Given the description of an element on the screen output the (x, y) to click on. 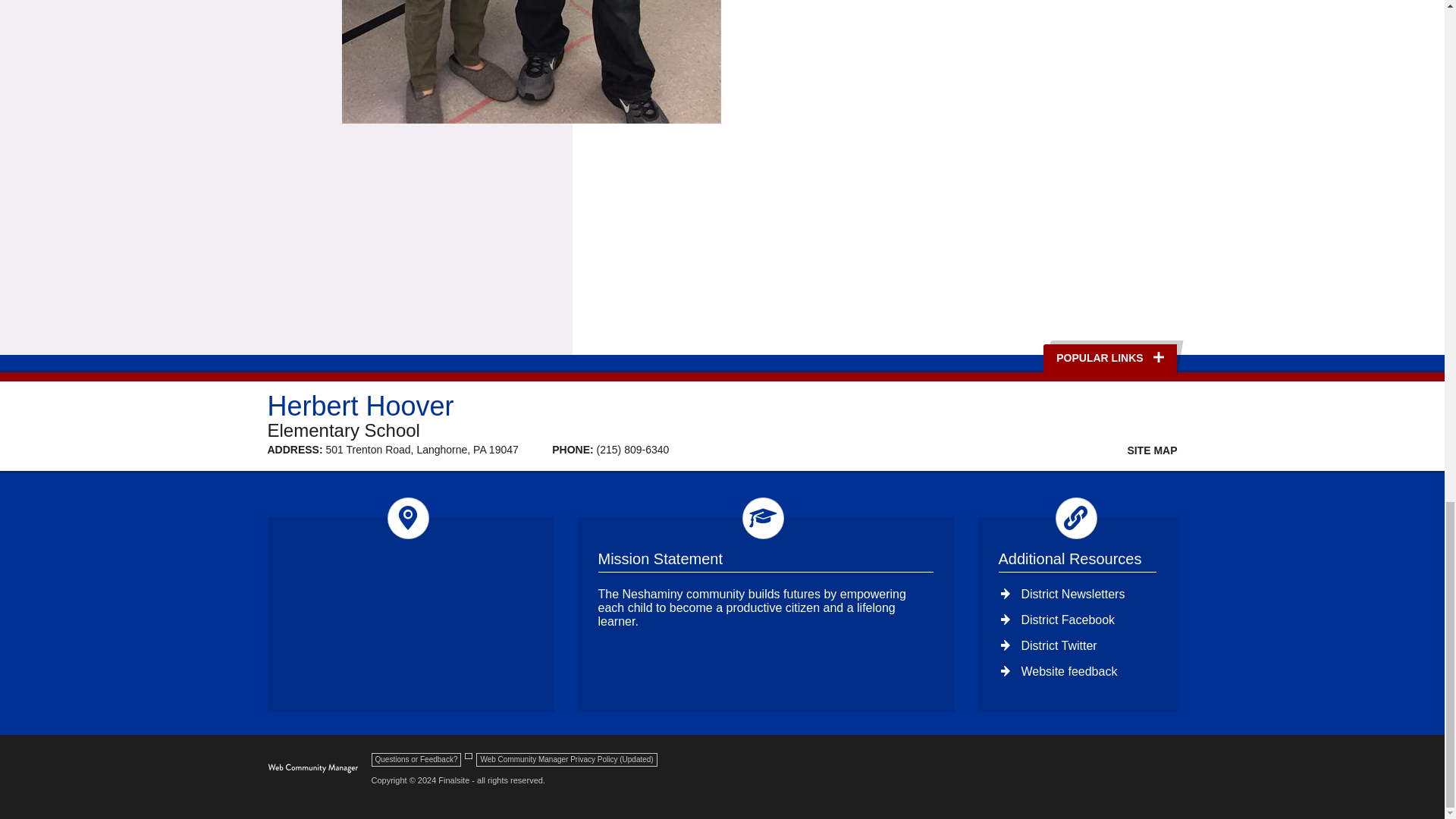
Hoover Hawks (531, 61)
Finalsite - all rights reserved (312, 768)
Google Map (410, 614)
